Given the description of an element on the screen output the (x, y) to click on. 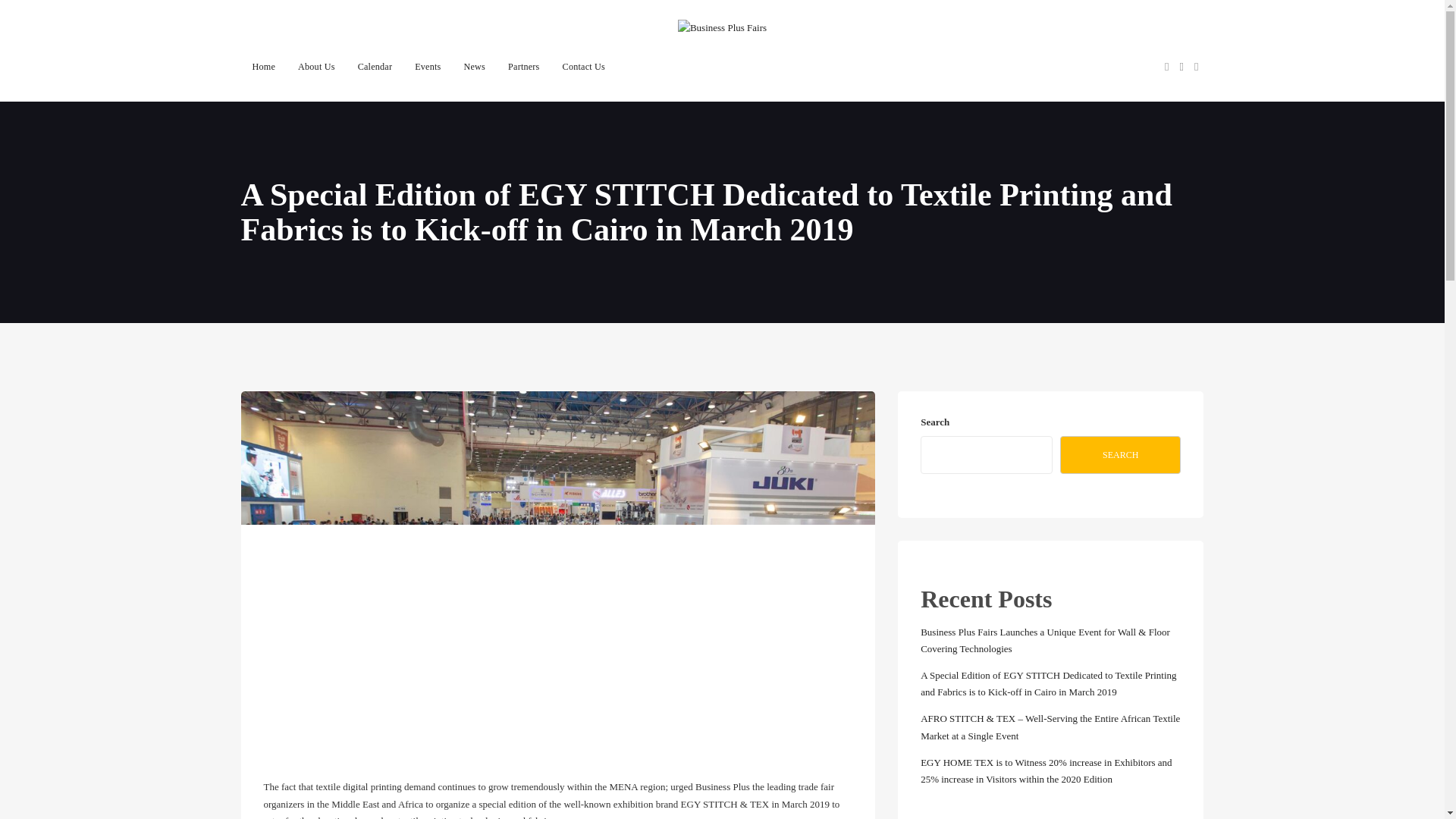
Partners (523, 66)
About Us (316, 66)
Calendar (375, 66)
Events (427, 66)
Home (263, 66)
News (474, 66)
Contact Us (583, 66)
